Given the description of an element on the screen output the (x, y) to click on. 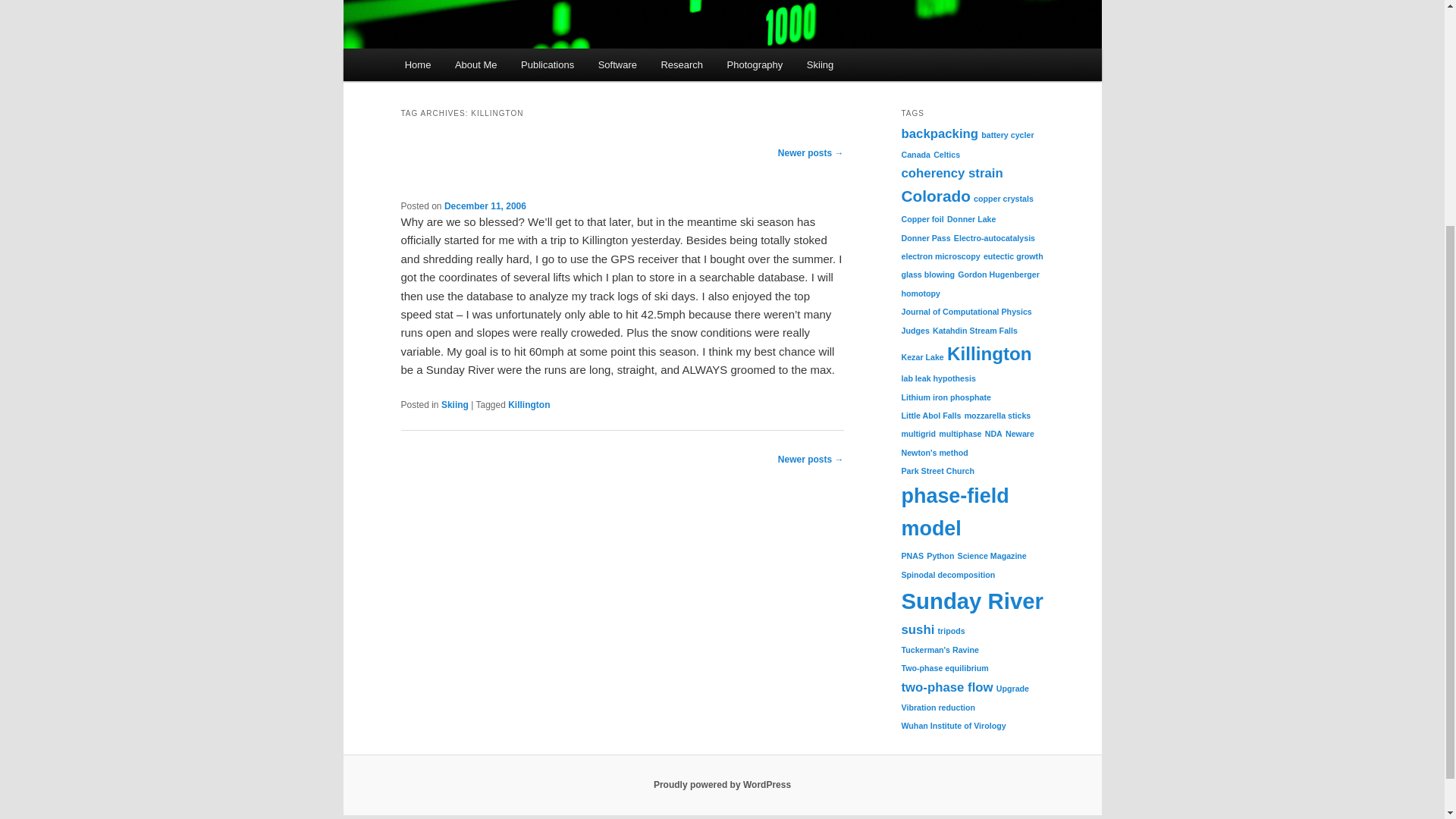
copper crystals (1003, 198)
December 11, 2006 (484, 205)
Gordon Hugenberger (998, 274)
Kezar Lake (922, 356)
Home (417, 64)
Celtics (946, 153)
coherency strain (952, 173)
Skiing (454, 404)
Katahdin Stream Falls (975, 329)
homotopy (920, 293)
